Given the description of an element on the screen output the (x, y) to click on. 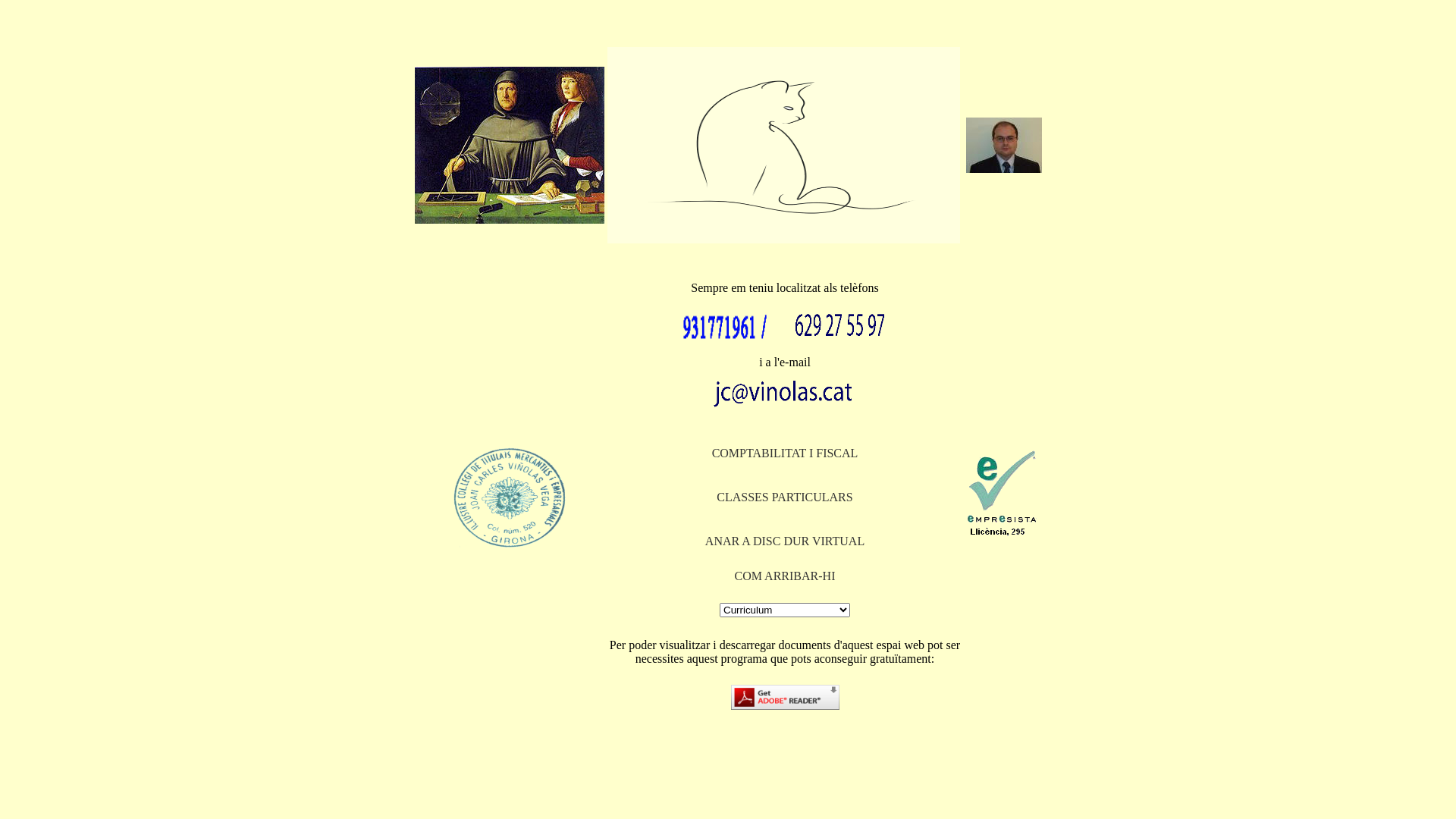
Si cliques vas a Wikipedia.org Element type: hover (508, 144)
COMPTABILITAT I FISCAL Element type: text (785, 451)
Si cliques envies correu amb POP3 Element type: hover (784, 393)
CLASSES PARTICULARS Element type: text (784, 495)
Si cliques vas a la web dels Empresistes Element type: hover (1001, 497)
ANAR A DISC DUR VIRTUAL Element type: text (784, 540)
COM ARRIBAR-HI Element type: text (784, 575)
